Given the description of an element on the screen output the (x, y) to click on. 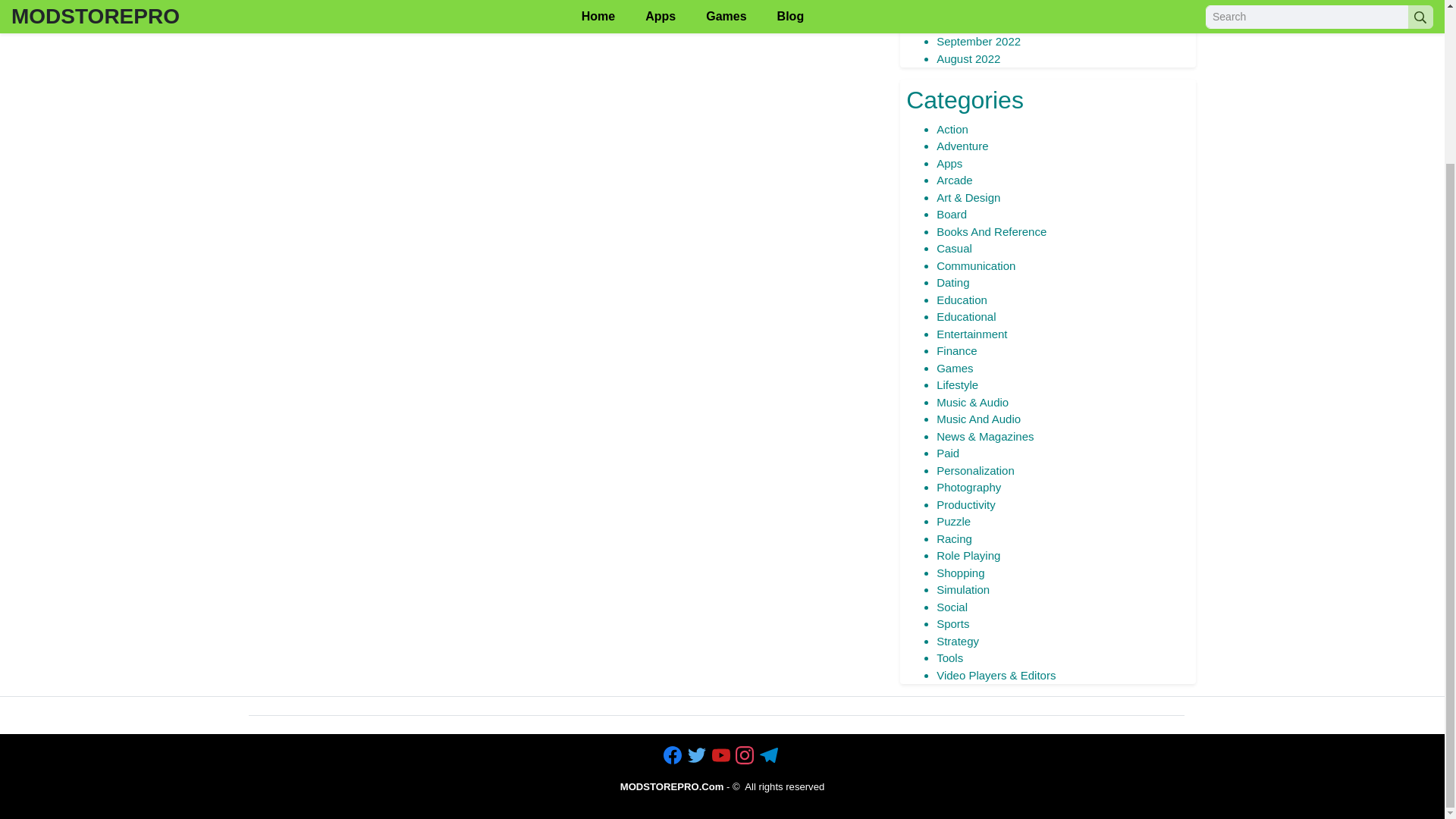
Music And Audio (978, 418)
Adventure (962, 145)
Dating (952, 282)
Casual (954, 247)
November 2022 (976, 6)
Apps (949, 163)
Communication (975, 265)
Action (952, 128)
Photography (968, 486)
October 2022 (971, 24)
Personalization (975, 470)
Arcade (954, 179)
Books And Reference (991, 231)
Board (951, 214)
Educational (965, 316)
